Given the description of an element on the screen output the (x, y) to click on. 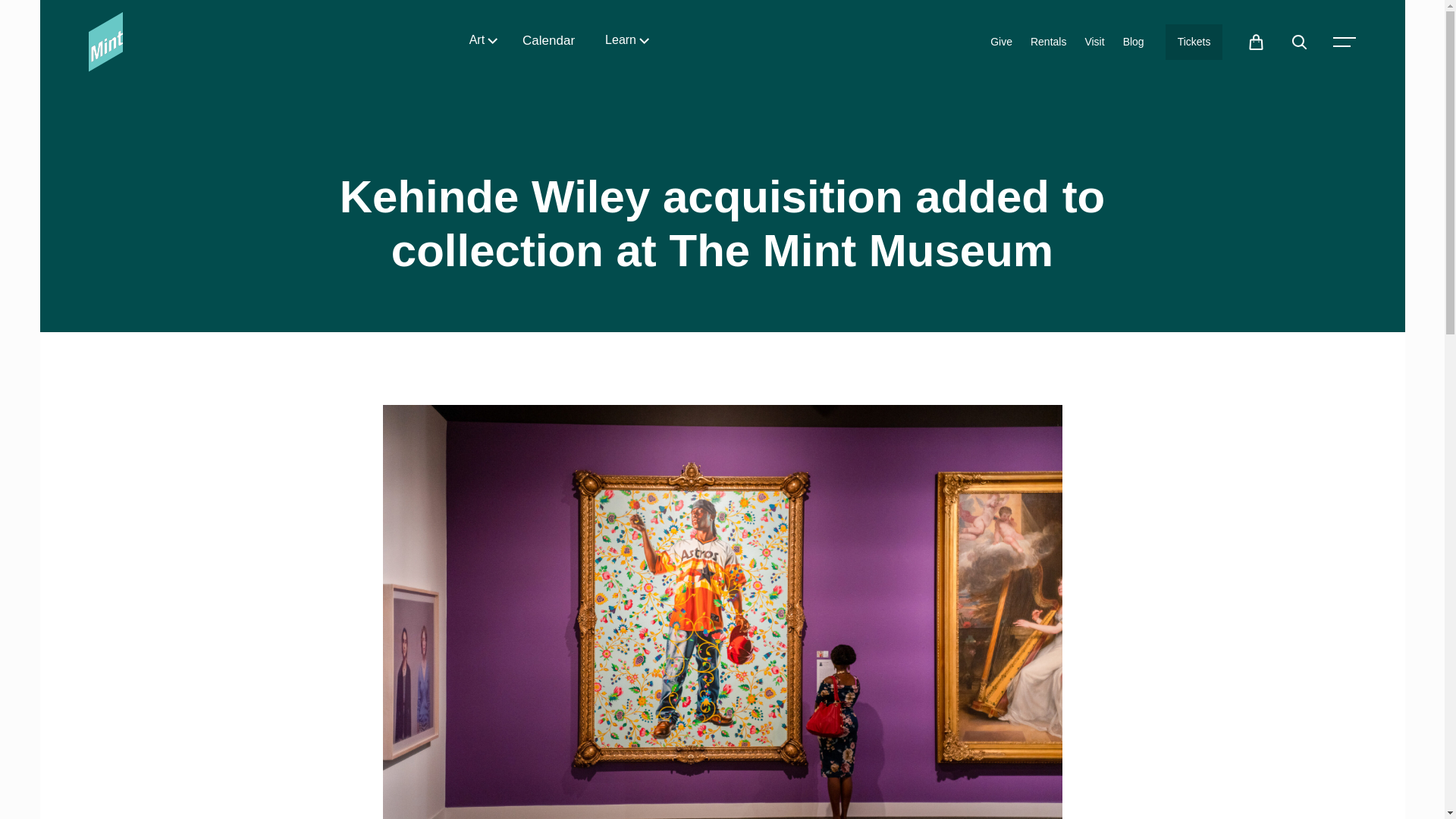
Rentals (1047, 41)
Blog (1133, 41)
Give (1000, 41)
Visit (1093, 41)
Tickets (1194, 41)
